Given the description of an element on the screen output the (x, y) to click on. 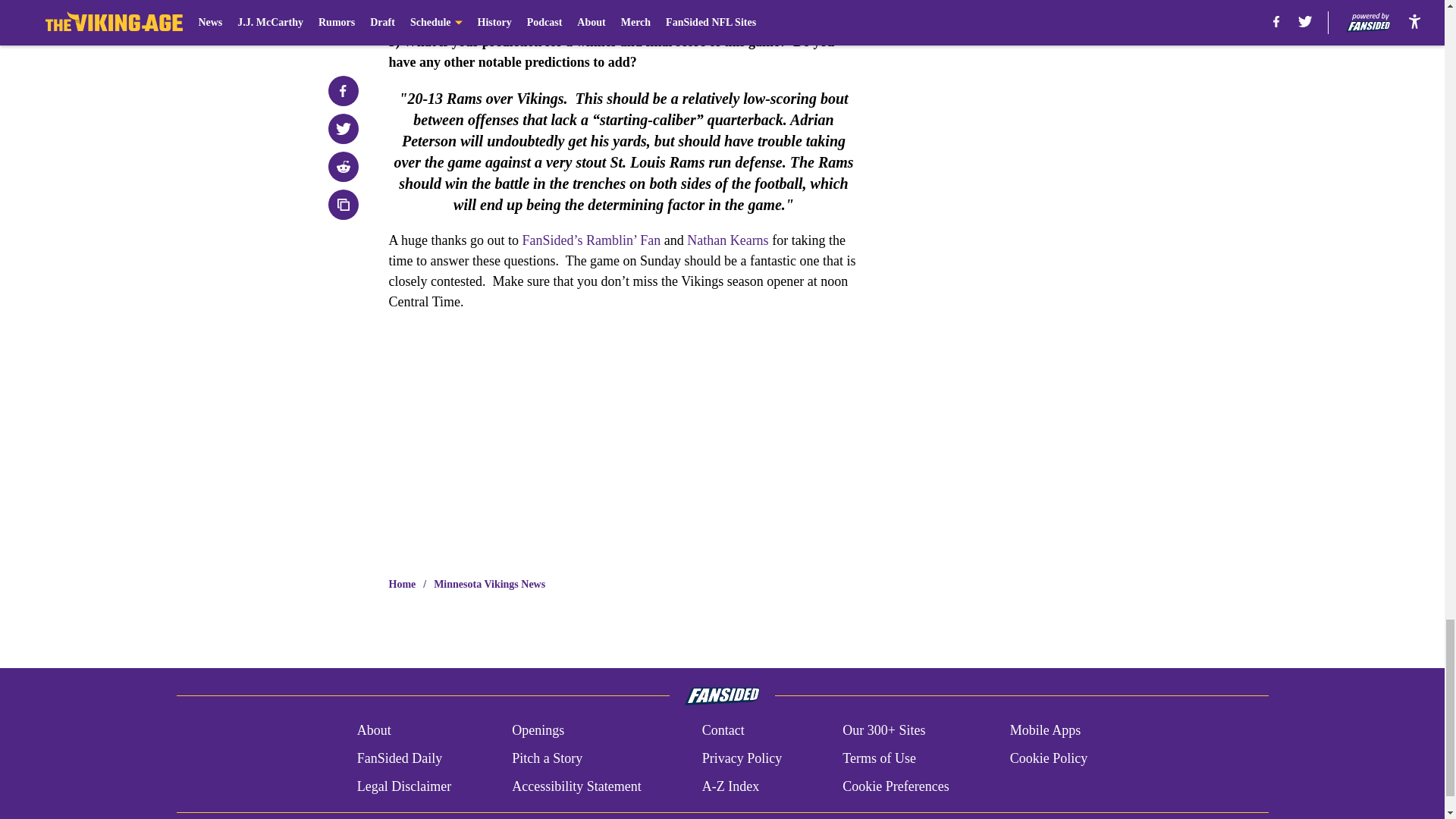
Mobile Apps (1045, 730)
FanSided Daily (399, 758)
Pitch a Story (547, 758)
Home (401, 584)
Contact (722, 730)
Nathan Kearns (727, 240)
Openings (538, 730)
Minnesota Vikings News (488, 584)
About (373, 730)
